Given the description of an element on the screen output the (x, y) to click on. 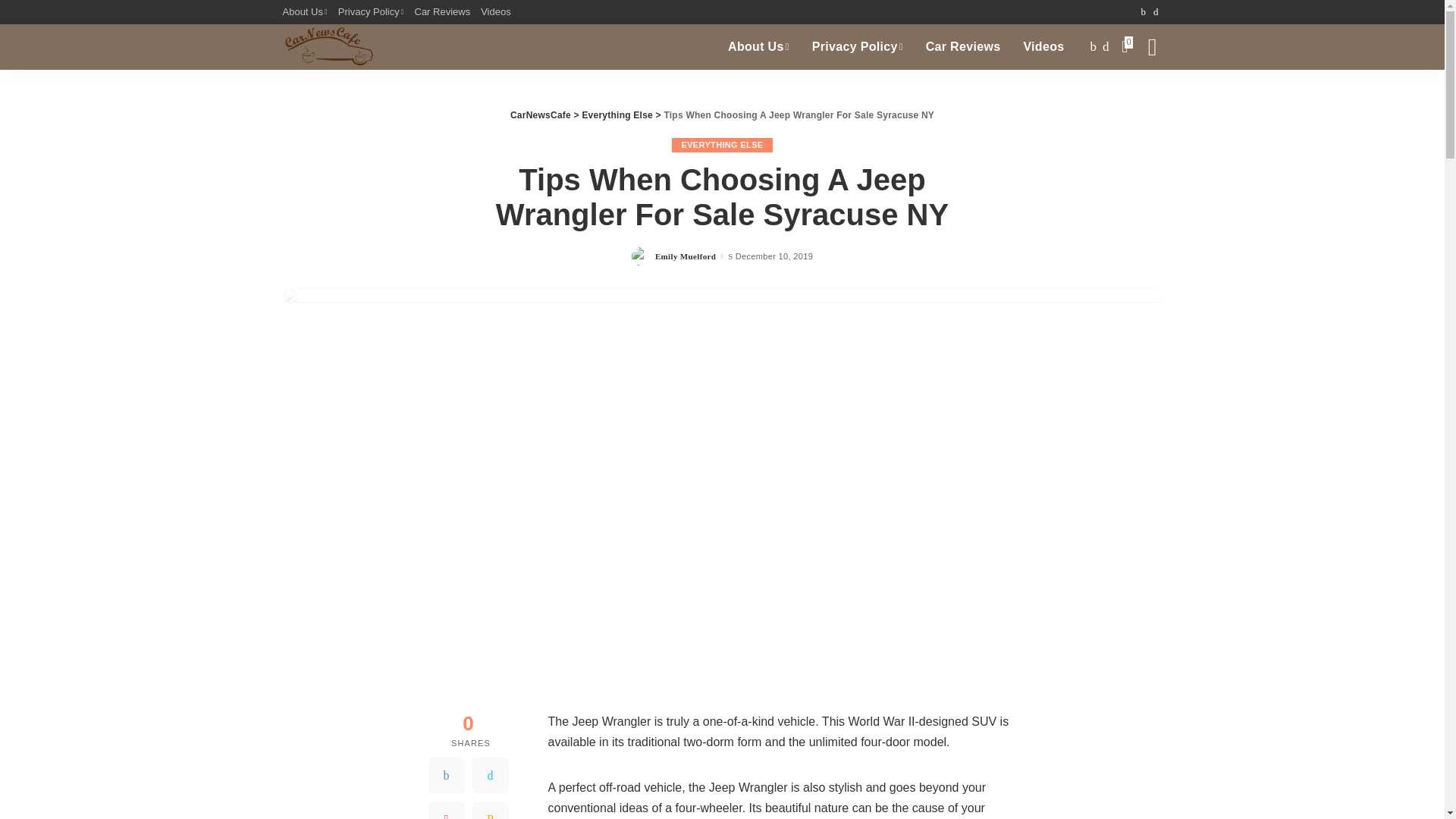
Search (1140, 97)
Pinterest (446, 810)
CarNewsCafe (328, 46)
Go to the Everything Else Category archives. (616, 114)
Car Reviews (442, 12)
Facebook (446, 775)
About Us (758, 46)
Videos (1043, 46)
Go to CarNewsCafe. (540, 114)
Twitter (489, 775)
Privacy Policy (371, 12)
Email (489, 810)
2019-12-10T06:10:25-05:00 (773, 256)
Videos (496, 12)
About Us (306, 12)
